Given the description of an element on the screen output the (x, y) to click on. 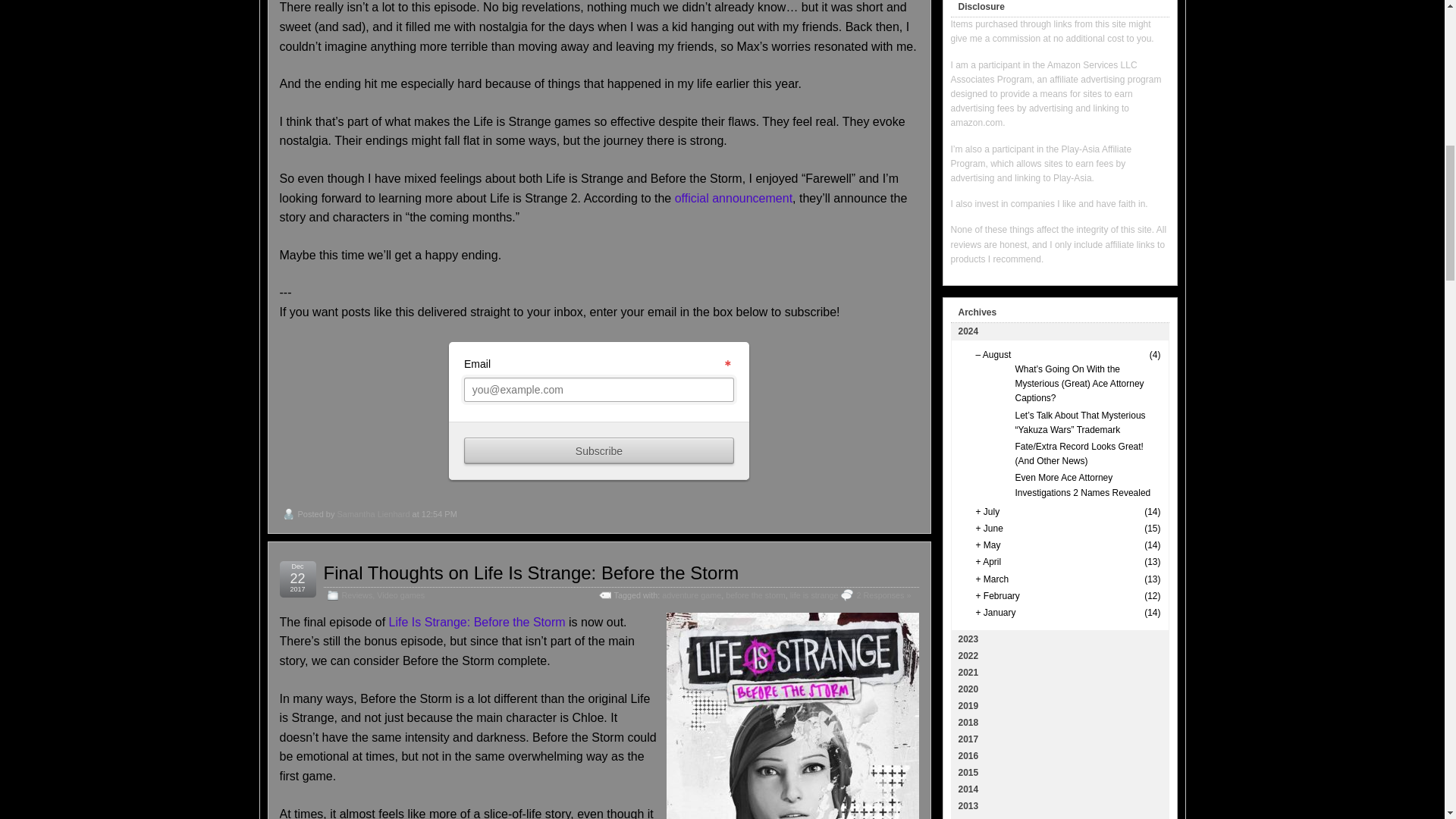
life is strange (814, 594)
before the storm (755, 594)
Reviews (356, 594)
Video games (401, 594)
Samantha Lienhard (372, 513)
official announcement (733, 197)
Final Thoughts on Life Is Strange: Before the Storm (530, 572)
Final Thoughts on Life Is Strange: Before the Storm (530, 572)
adventure game (691, 594)
Life Is Strange: Before the Storm (477, 621)
